Given the description of an element on the screen output the (x, y) to click on. 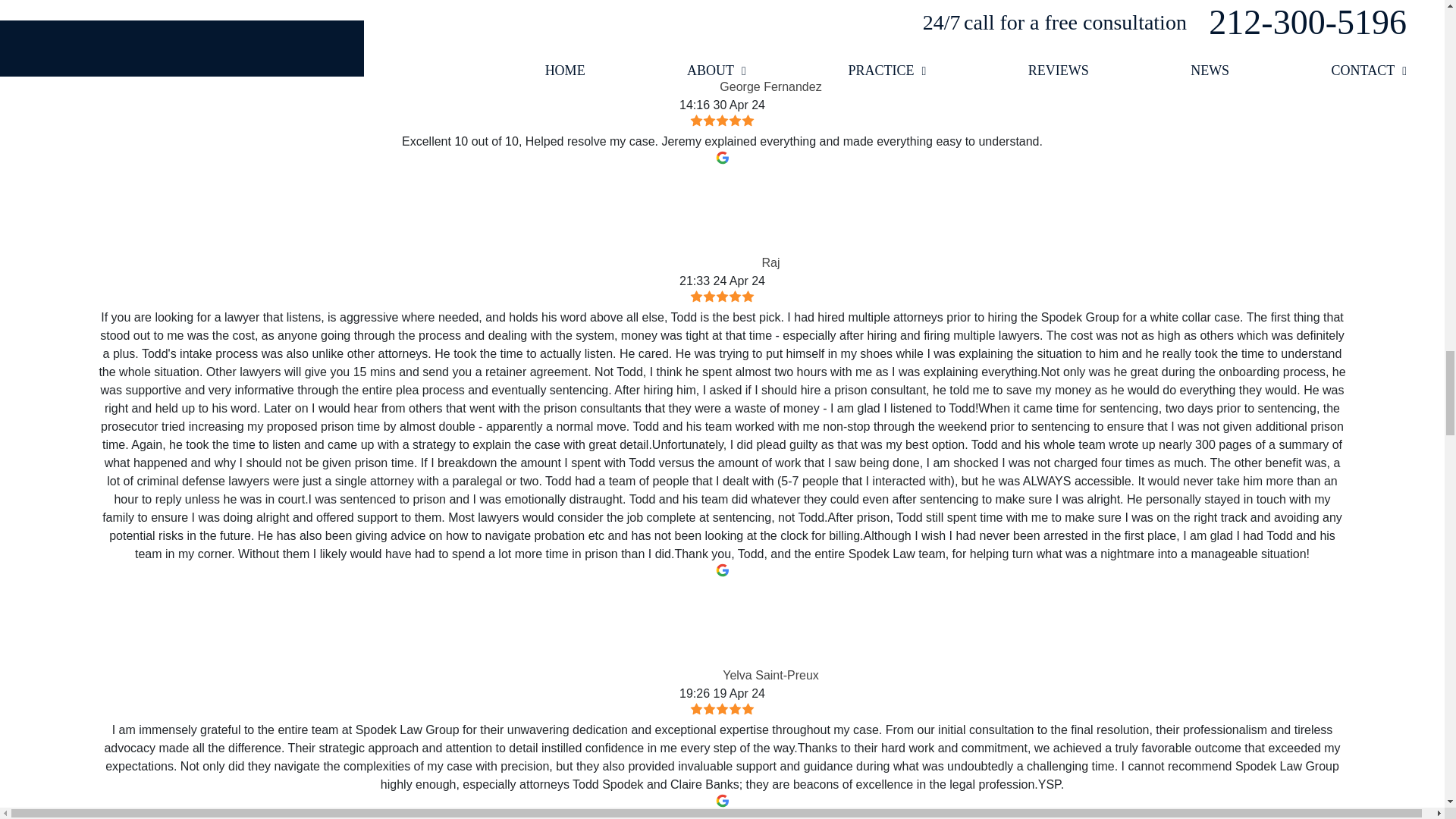
Yelva Saint-Preux (674, 630)
George Fernandez (671, 45)
Katherine Sun (683, 816)
Raj (712, 217)
